Given the description of an element on the screen output the (x, y) to click on. 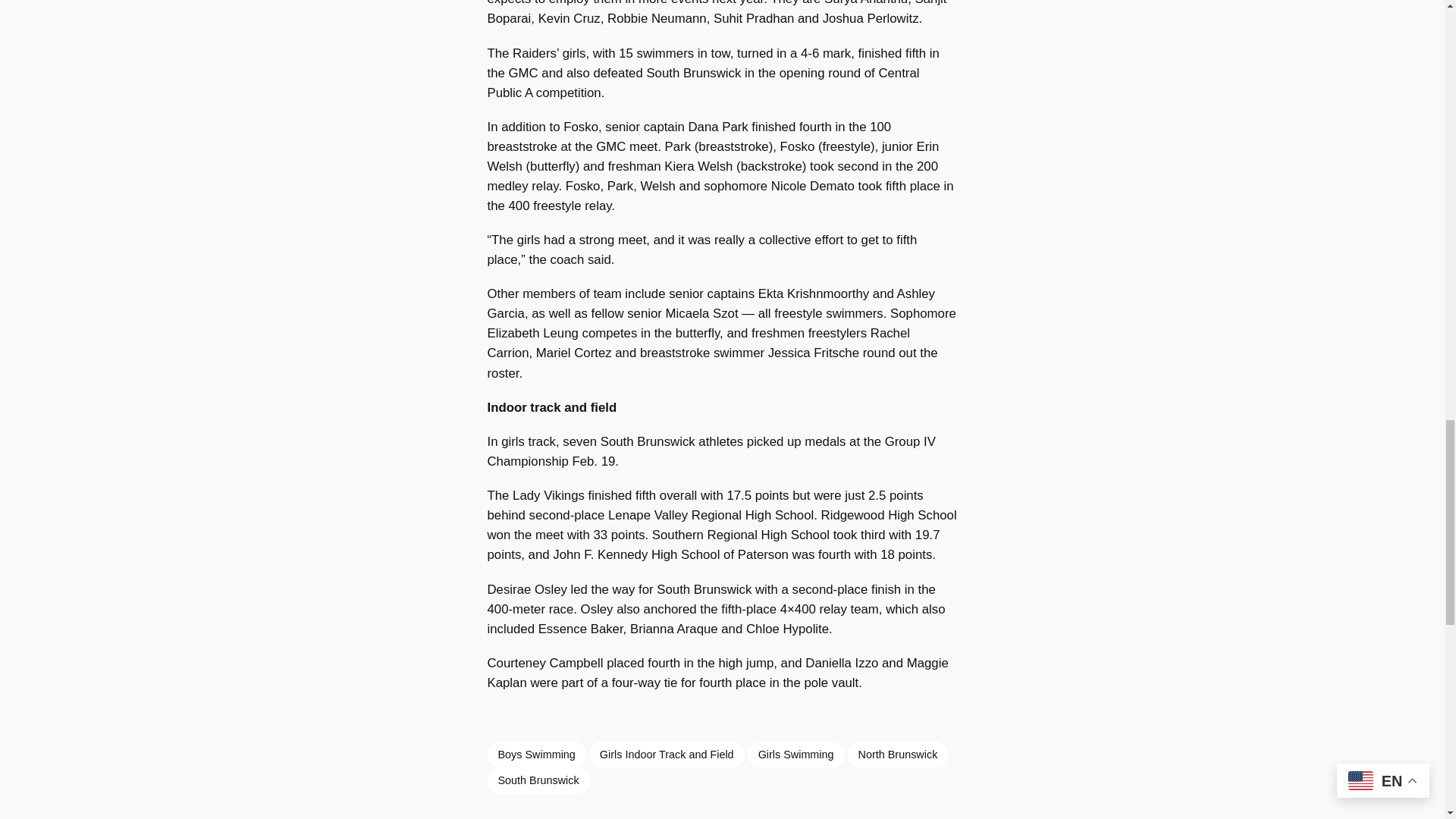
South Brunswick (537, 780)
North Brunswick (898, 754)
Girls Indoor Track and Field (666, 754)
Girls Swimming (796, 754)
Boys Swimming (535, 754)
